Given the description of an element on the screen output the (x, y) to click on. 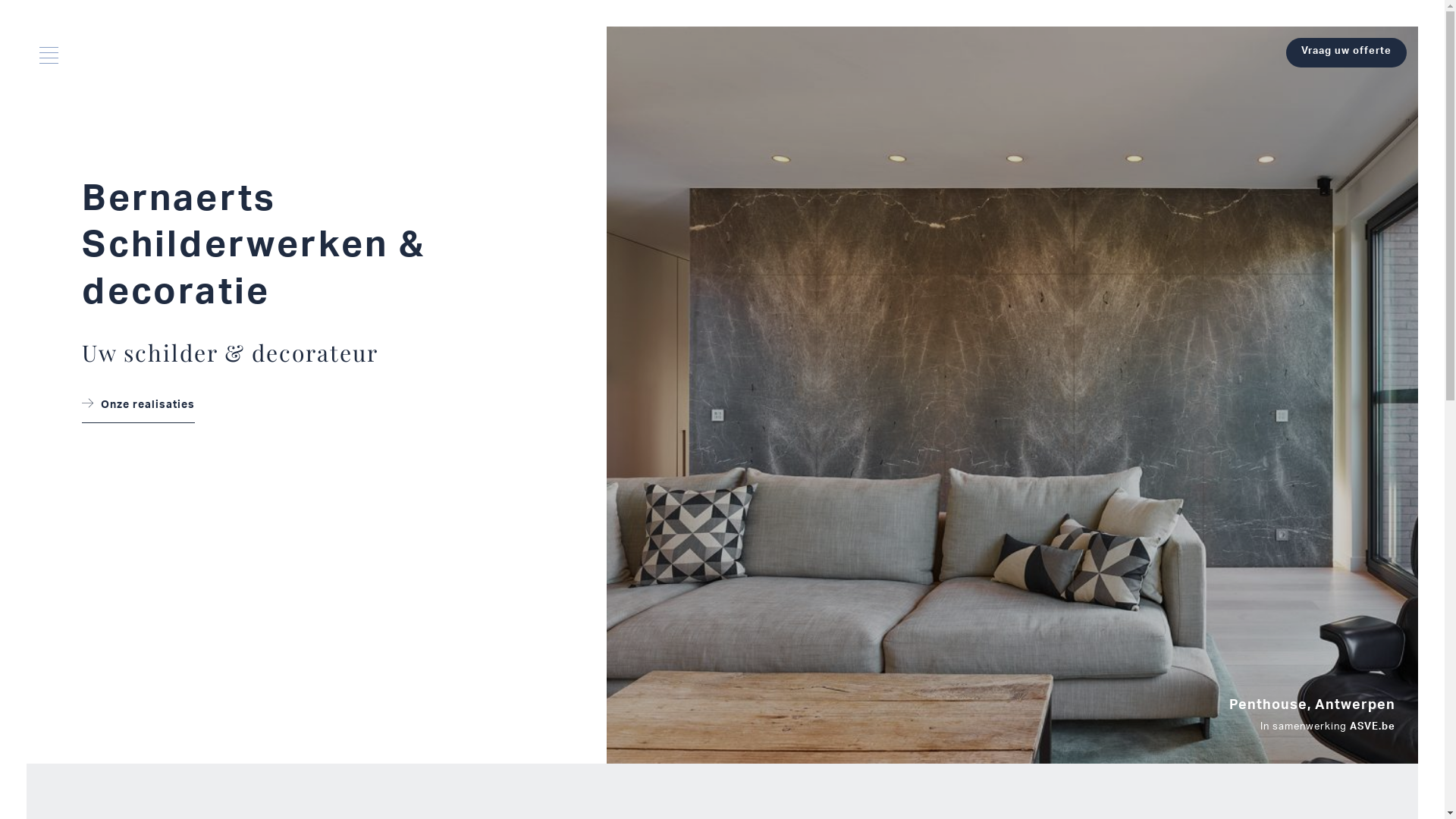
Onze realisaties Element type: text (137, 409)
Penthouse, Antwerpen Element type: text (1312, 706)
ASVE.be Element type: text (1372, 727)
Vraag uw offerte Element type: text (1346, 52)
